Given the description of an element on the screen output the (x, y) to click on. 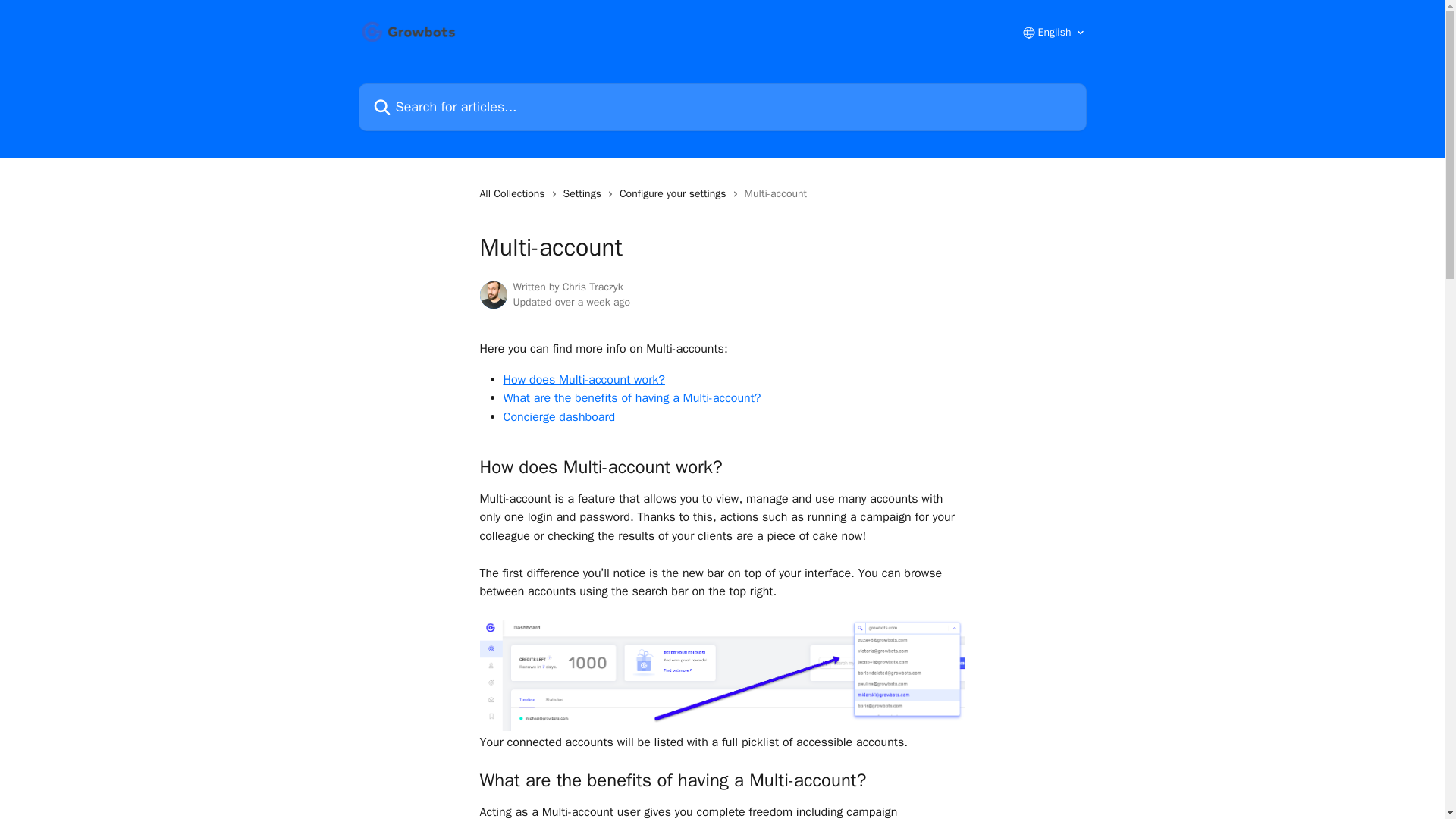
All Collections (514, 193)
Configure your settings (676, 193)
Settings (585, 193)
How does Multi-account work? (584, 379)
Concierge dashboard (559, 417)
What are the benefits of having a Multi-account? (632, 397)
